Given the description of an element on the screen output the (x, y) to click on. 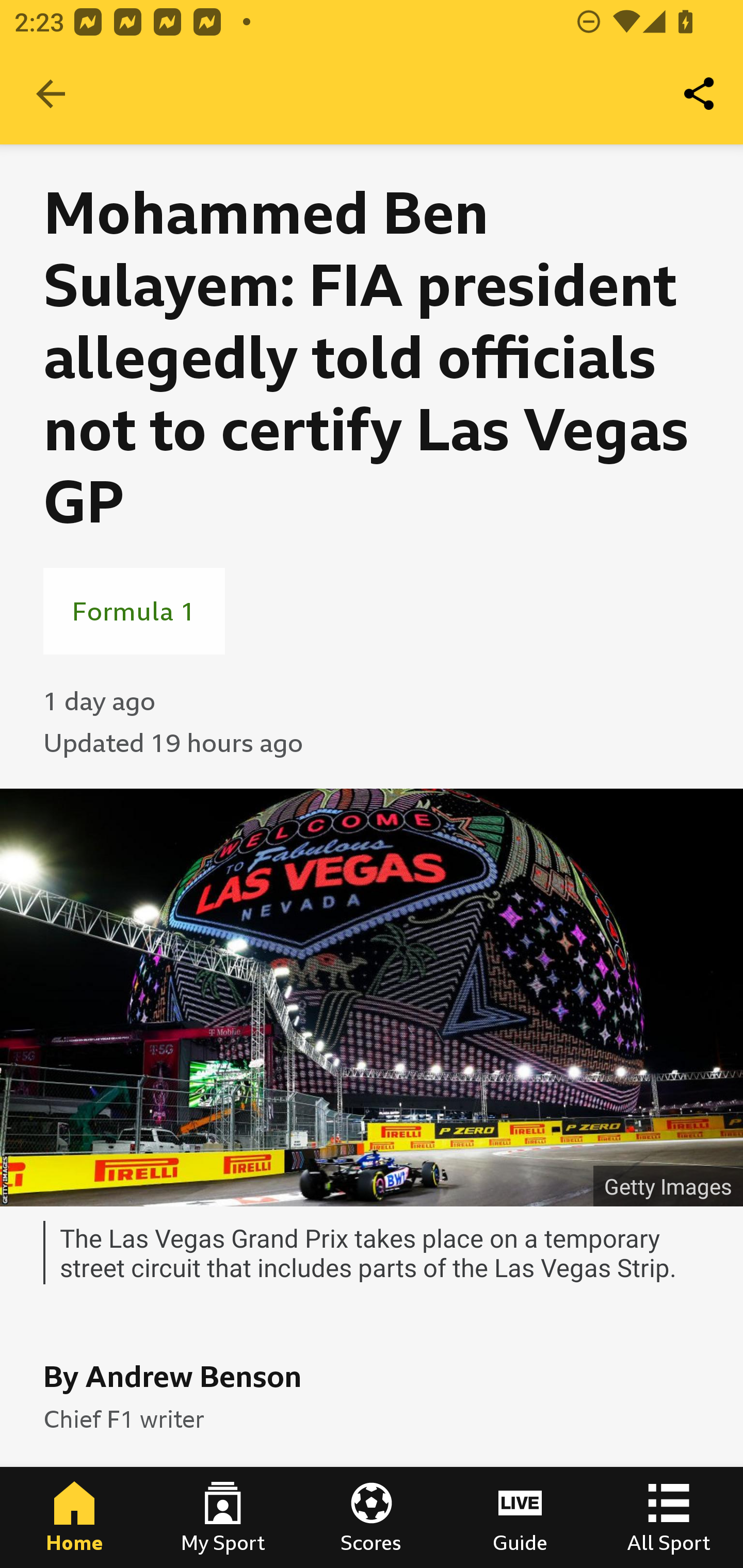
Navigate up (50, 93)
Share (699, 93)
Formula 1 (134, 610)
My Sport (222, 1517)
Scores (371, 1517)
Guide (519, 1517)
All Sport (668, 1517)
